Given the description of an element on the screen output the (x, y) to click on. 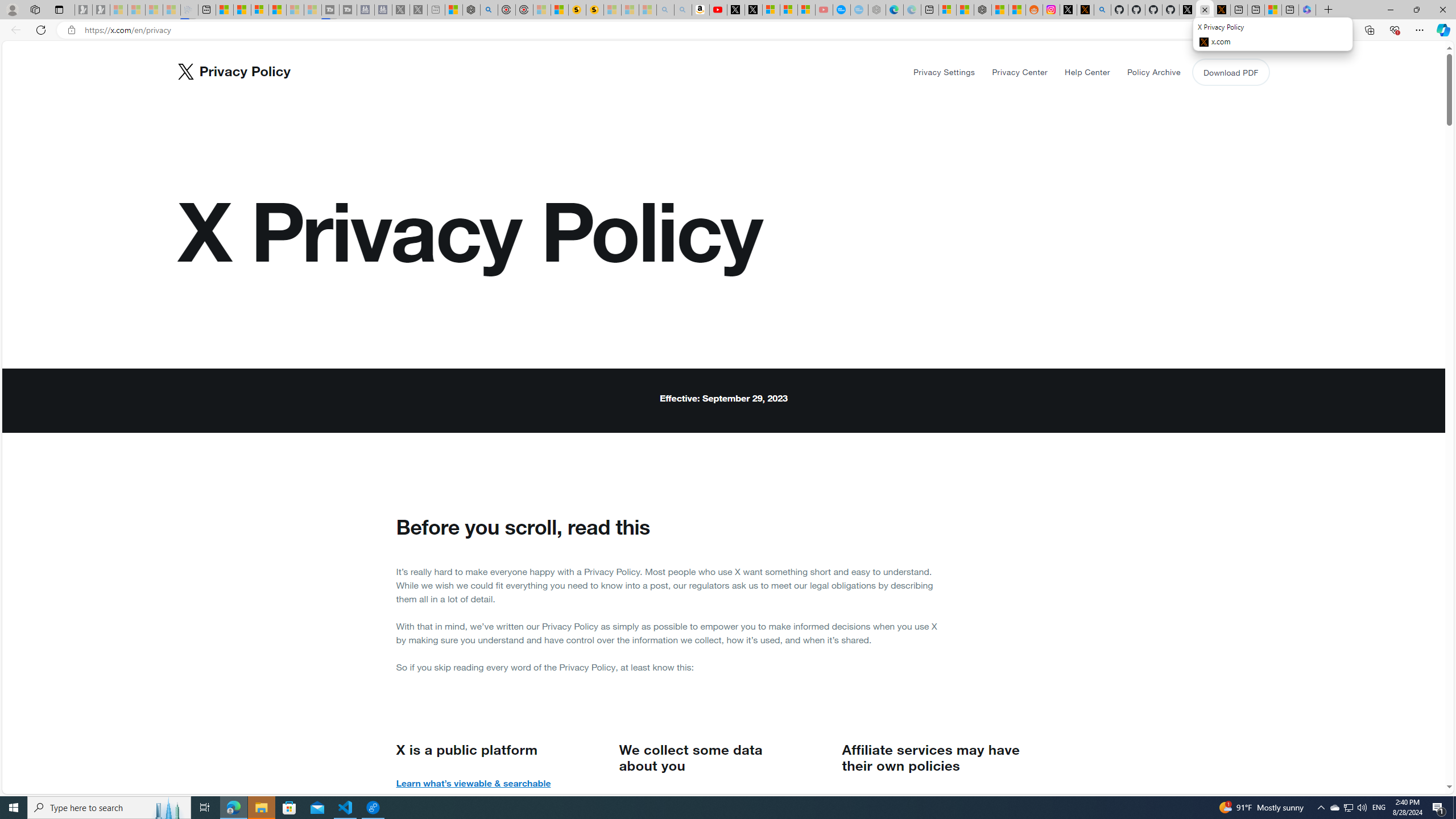
Privacy Center (1019, 71)
Nordace - Nordace has arrived Hong Kong - Sleeping (877, 9)
help.x.com | 524: A timeout occurred (1085, 9)
The most popular Google 'how to' searches - Sleeping (859, 9)
Log in to X / X (1068, 9)
